Given the description of an element on the screen output the (x, y) to click on. 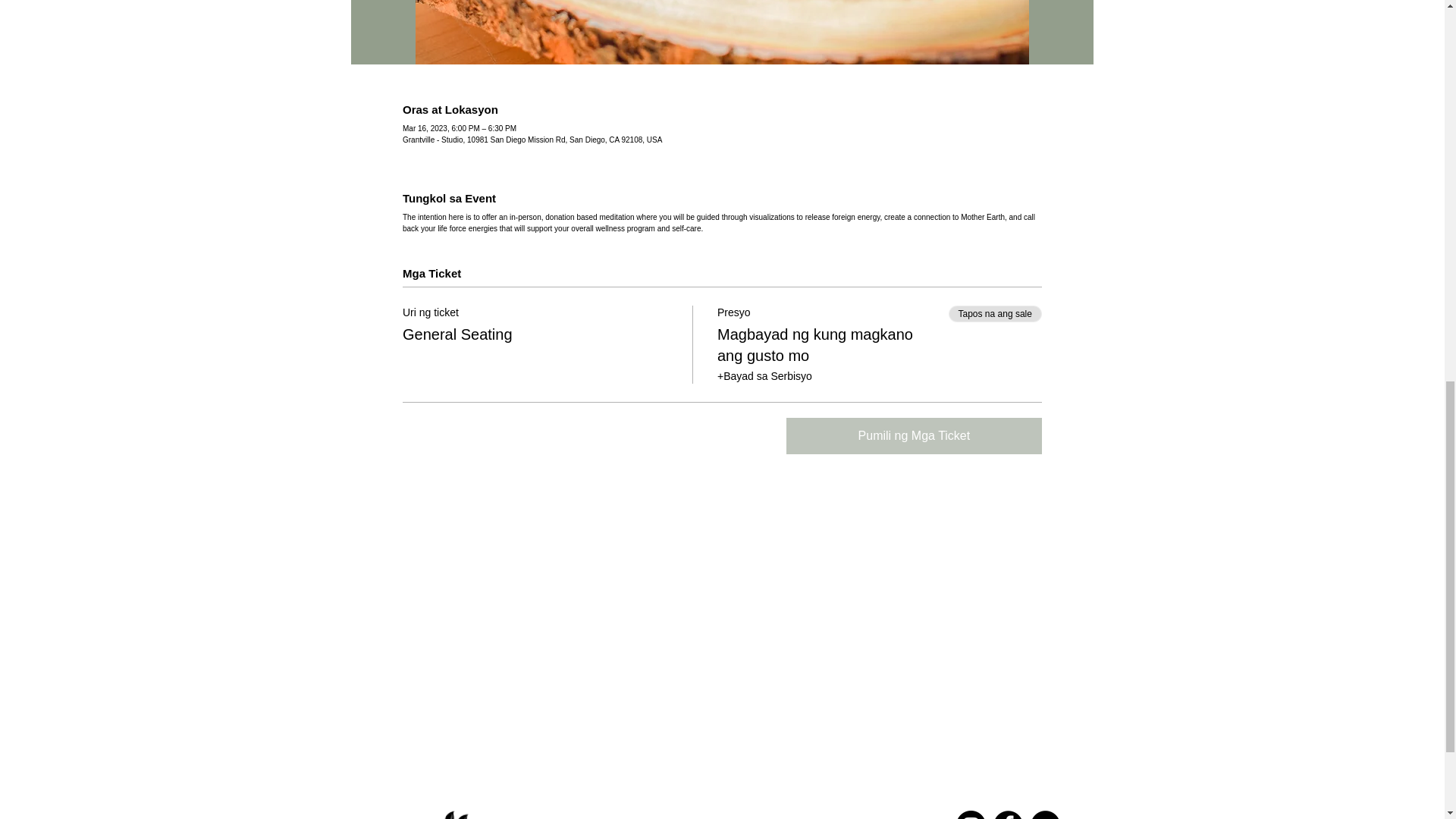
Pumili ng Mga Ticket (914, 435)
